Given the description of an element on the screen output the (x, y) to click on. 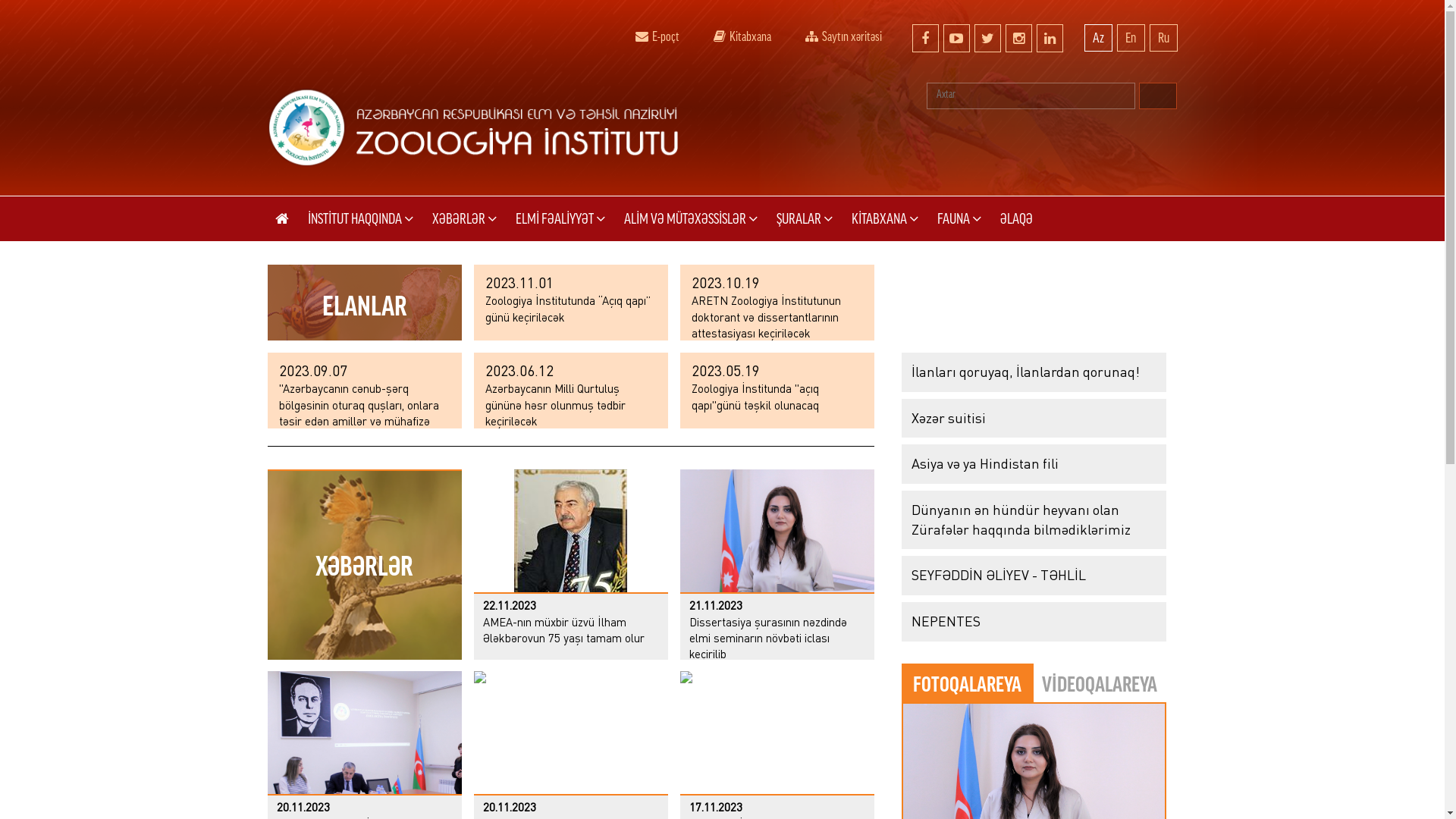
Ru Element type: text (1163, 37)
NEPENTES Element type: text (1032, 621)
FAUNA Element type: text (959, 218)
Kitabxana Element type: text (741, 35)
FOTOQALAREYA Element type: text (966, 682)
Kitabxana Element type: hover (718, 36)
En Element type: text (1130, 37)
Az Element type: text (1098, 37)
ELANLAR Element type: text (363, 302)
